Given the description of an element on the screen output the (x, y) to click on. 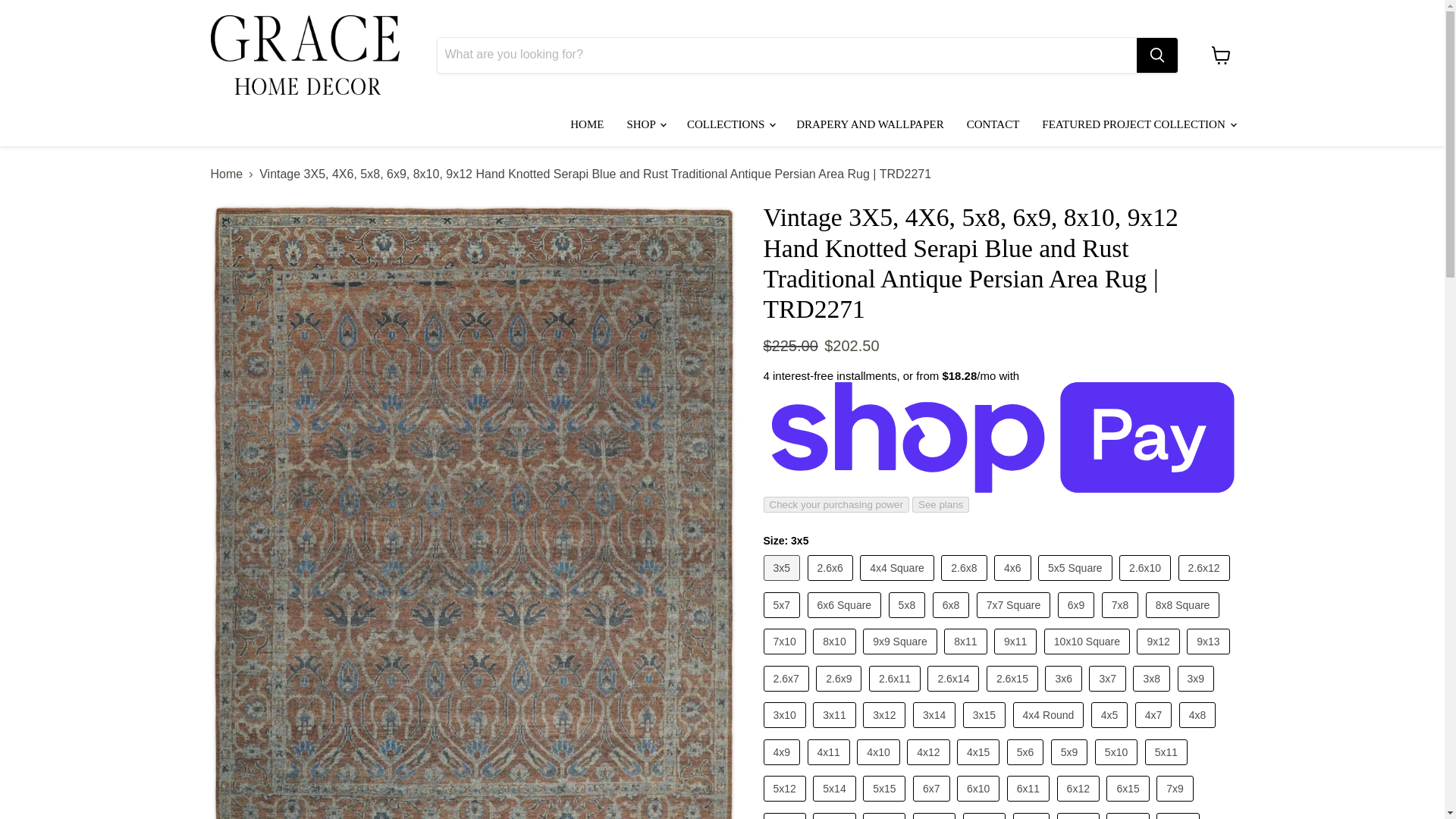
HOME (586, 124)
SHOP (644, 124)
View cart (1221, 55)
COLLECTIONS (729, 124)
